Given the description of an element on the screen output the (x, y) to click on. 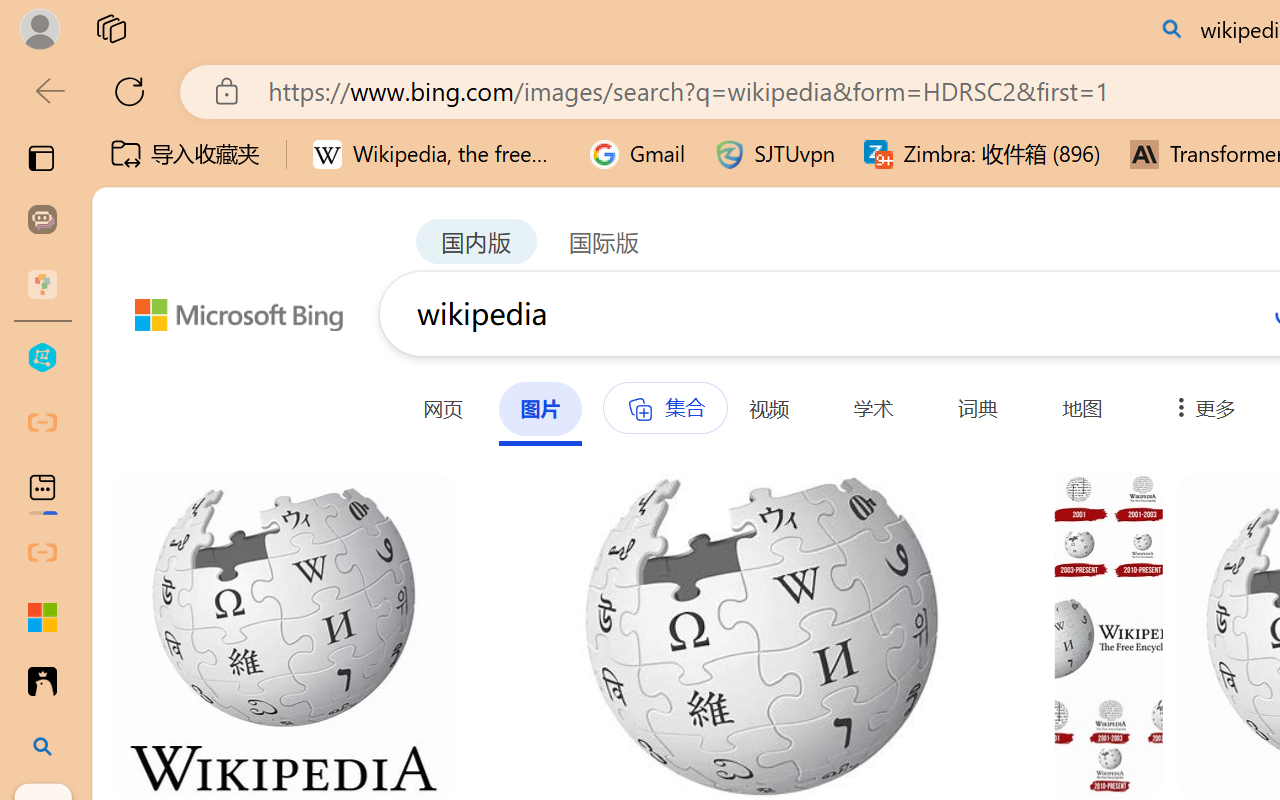
Wikipedia, the free encyclopedia (437, 154)
Gmail (637, 154)
